Given the description of an element on the screen output the (x, y) to click on. 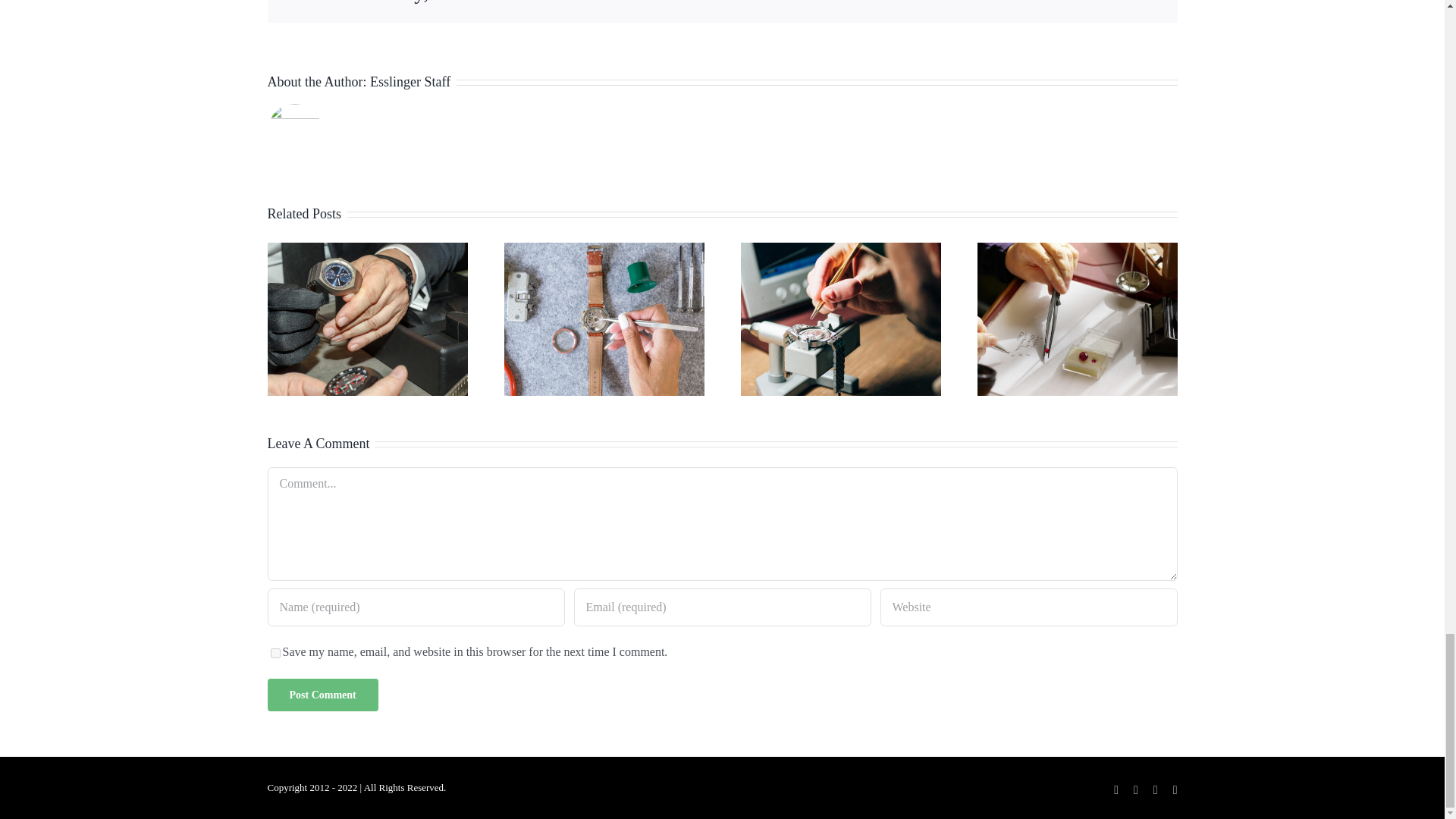
yes (274, 653)
Posts by Esslinger Staff (409, 81)
Post Comment (321, 694)
